Given the description of an element on the screen output the (x, y) to click on. 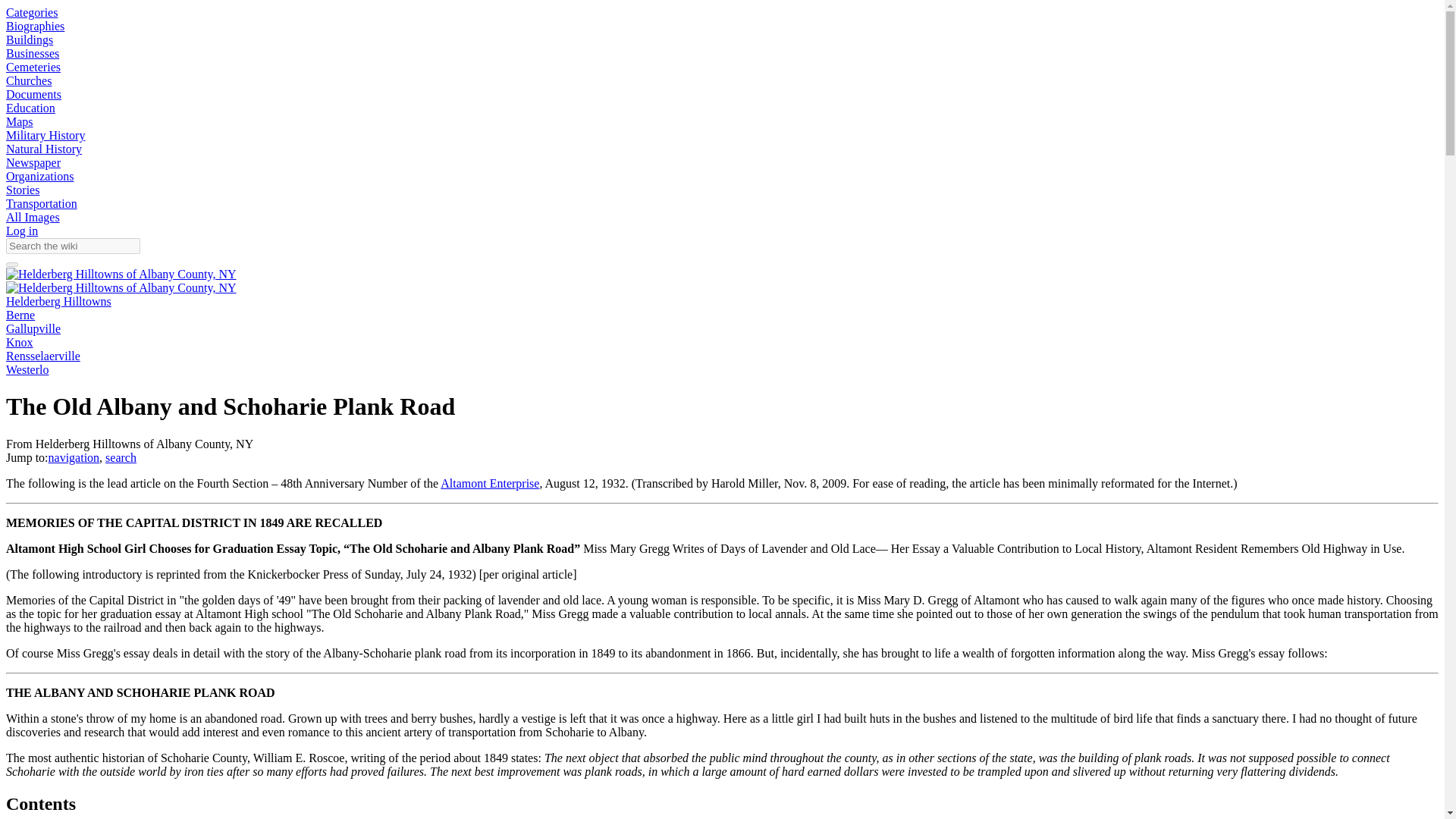
Log in (21, 230)
Education (30, 107)
Cemeteries (33, 66)
Helderberg Hilltowns (58, 300)
Rensselaerville (42, 355)
Natural History (43, 148)
Go (11, 264)
Altamont Enterprise (489, 482)
Organizations (39, 175)
Military History (44, 134)
Documents (33, 93)
Altamont Enterprise (489, 482)
Biographies (34, 25)
Westerlo (26, 369)
Buildings (28, 39)
